Given the description of an element on the screen output the (x, y) to click on. 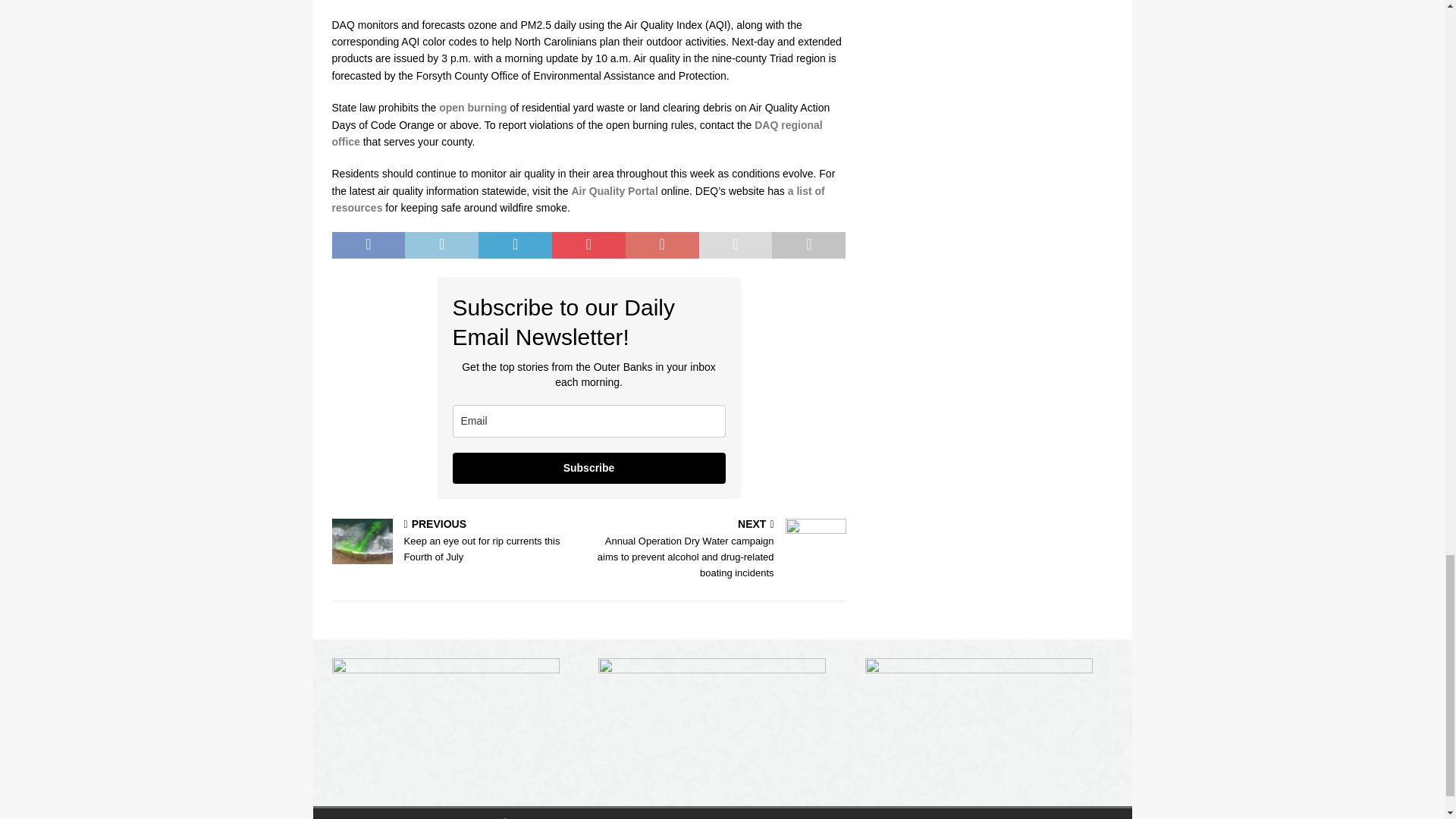
DAQ regional office (576, 133)
open burning (472, 107)
a list of resources (578, 199)
Air Quality Portal (614, 191)
